Given the description of an element on the screen output the (x, y) to click on. 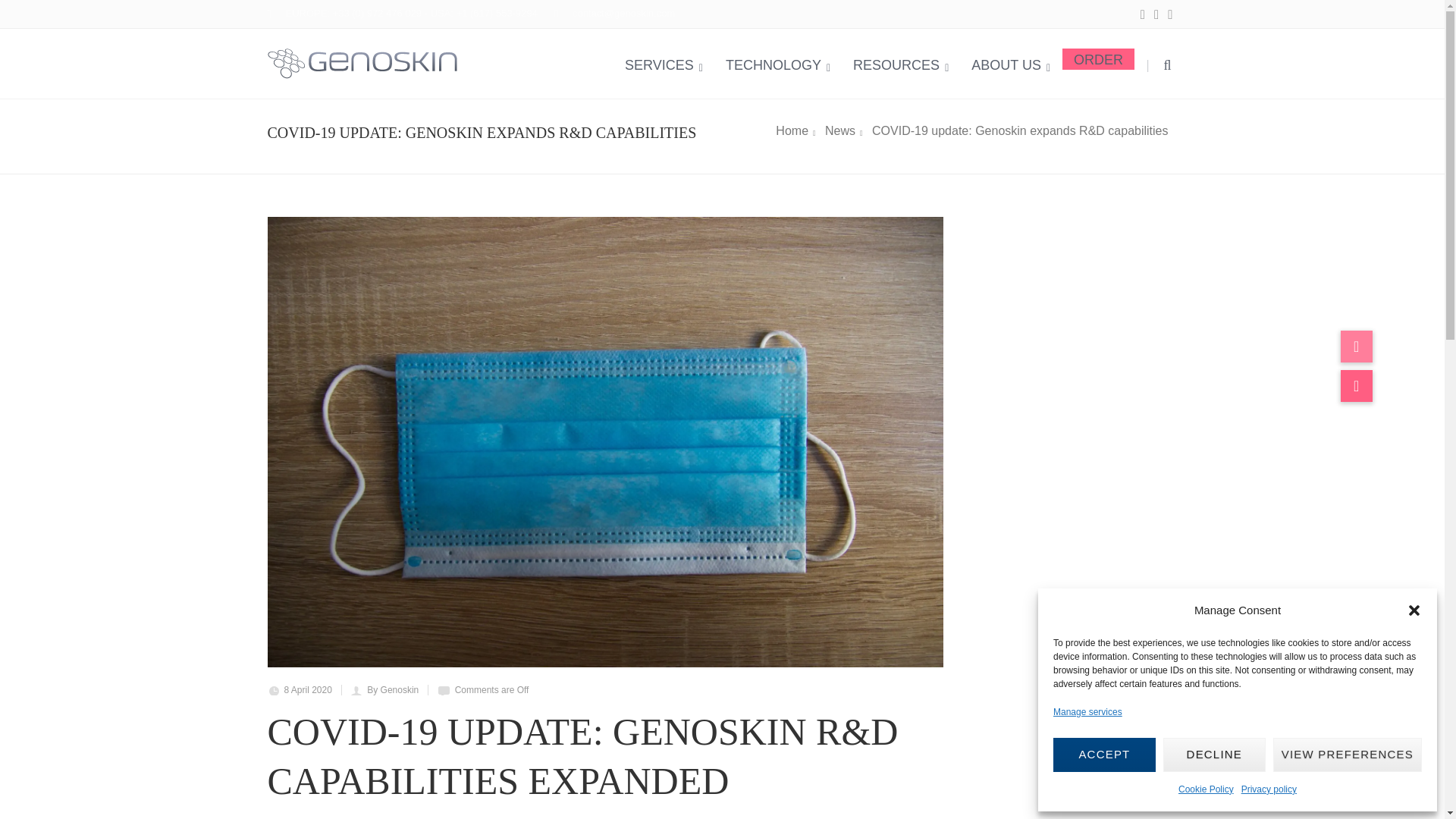
ACCEPT (1104, 754)
Facebook (1169, 15)
DECLINE (1214, 754)
SERVICES (663, 63)
TECHNOLOGY (777, 63)
Cookie Policy (1205, 789)
Privacy policy (1269, 789)
VIEW PREFERENCES (1347, 754)
Manage services (1087, 711)
ABOUT US (1010, 63)
Twitter (1156, 15)
RESOURCES (900, 63)
LinkedIn (1142, 15)
